Given the description of an element on the screen output the (x, y) to click on. 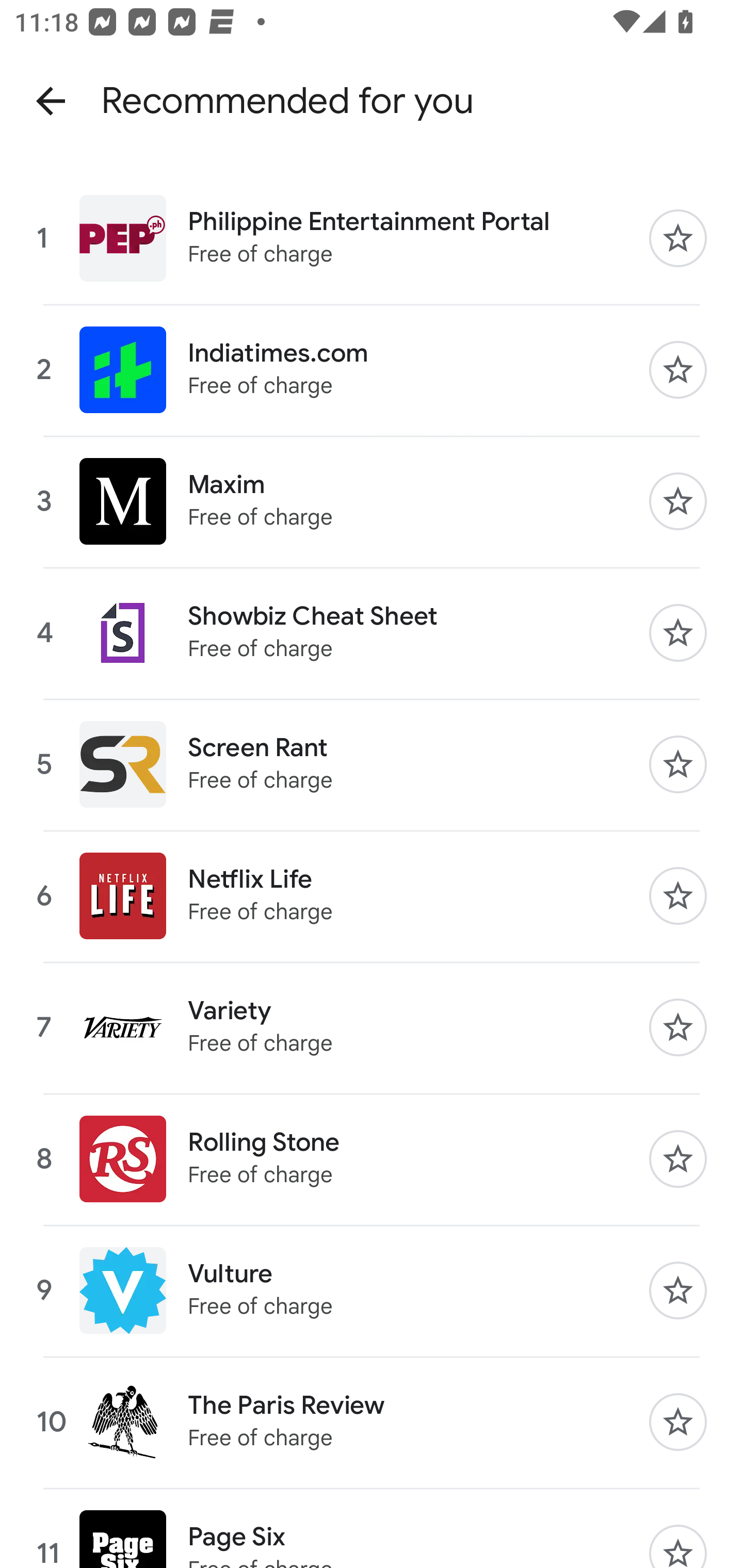
Navigate up (50, 101)
Follow (677, 238)
2 Indiatimes.com Free of charge Follow (371, 369)
Follow (677, 369)
3 Maxim Free of charge Follow (371, 500)
Follow (677, 500)
4 Showbiz Cheat Sheet Free of charge Follow (371, 632)
Follow (677, 632)
5 Screen Rant Free of charge Follow (371, 764)
Follow (677, 764)
6 Netflix Life Free of charge Follow (371, 896)
Follow (677, 896)
7 Variety Free of charge Follow (371, 1027)
Follow (677, 1027)
8 Rolling Stone Free of charge Follow (371, 1159)
Follow (677, 1159)
9 Vulture Free of charge Follow (371, 1290)
Follow (677, 1290)
10 The Paris Review Free of charge Follow (371, 1421)
Follow (677, 1421)
Follow (677, 1546)
